Given the description of an element on the screen output the (x, y) to click on. 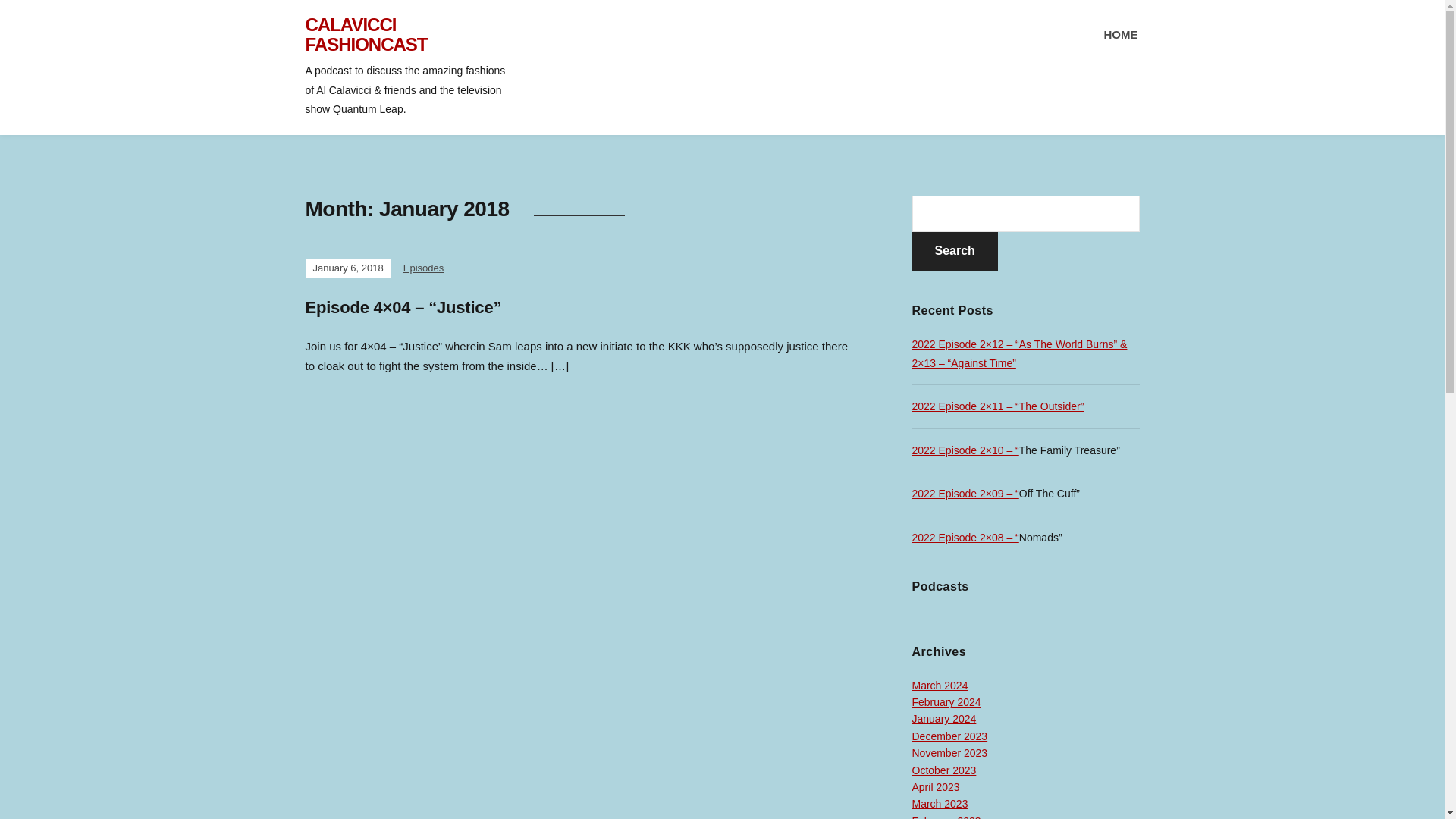
Episodes (423, 267)
Search (954, 251)
October 2023 (943, 770)
February 2023 (945, 816)
Search (954, 251)
November 2023 (949, 752)
March 2023 (939, 803)
January 2024 (943, 718)
HOME (1121, 34)
April 2023 (935, 787)
February 2024 (945, 702)
CALAVICCI FASHIONCAST (365, 34)
December 2023 (949, 736)
March 2024 (939, 685)
